Given the description of an element on the screen output the (x, y) to click on. 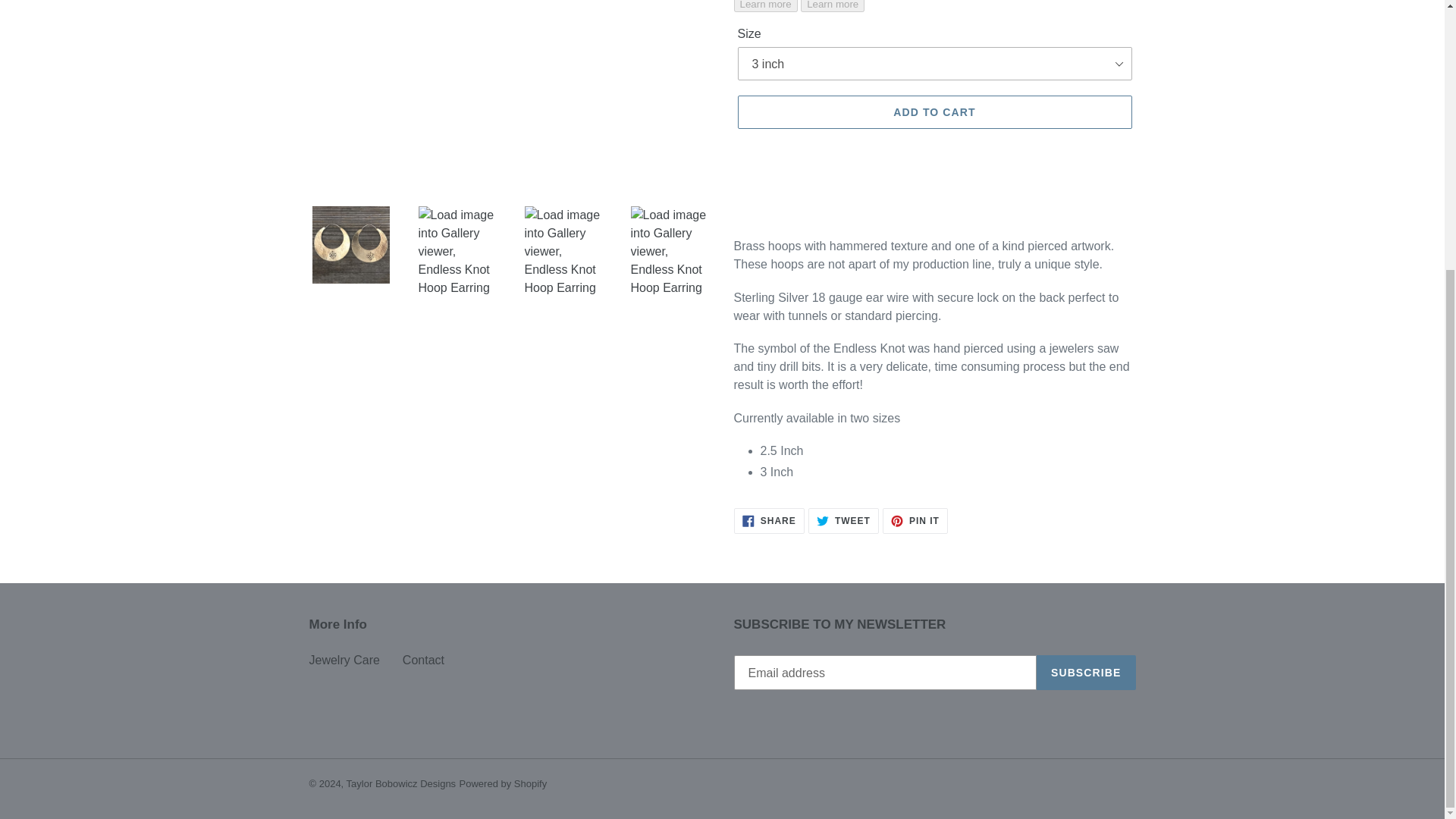
ADD TO CART (843, 520)
Jewelry Care (914, 520)
